Given the description of an element on the screen output the (x, y) to click on. 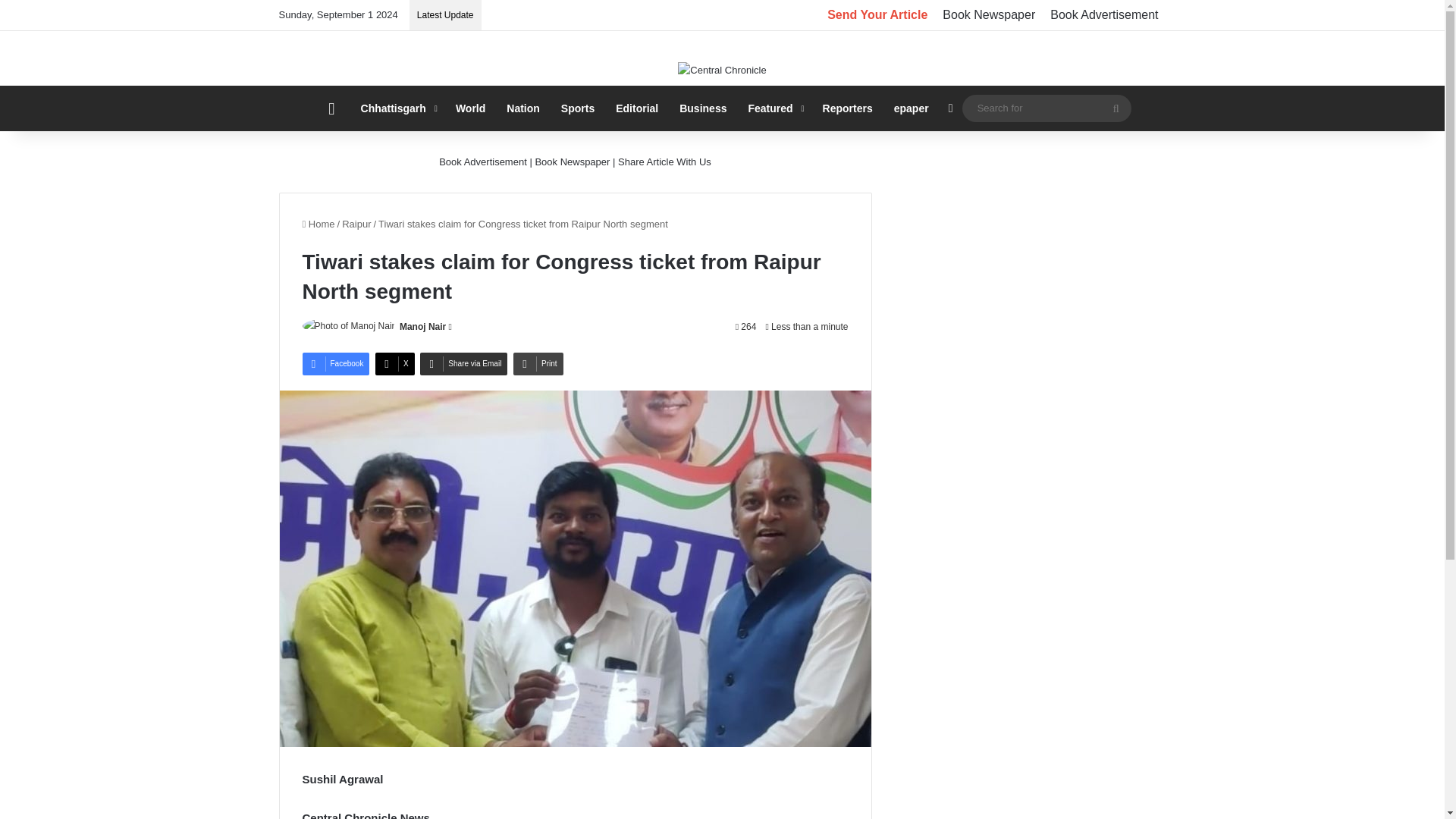
Search for (1046, 108)
Chhattisgarh (397, 108)
Manoj Nair (421, 326)
Sports (577, 108)
World (470, 108)
Search for (1115, 108)
Central Chronicle (721, 69)
Nation (523, 108)
epaper (911, 108)
Send Your Article (876, 15)
